Given the description of an element on the screen output the (x, y) to click on. 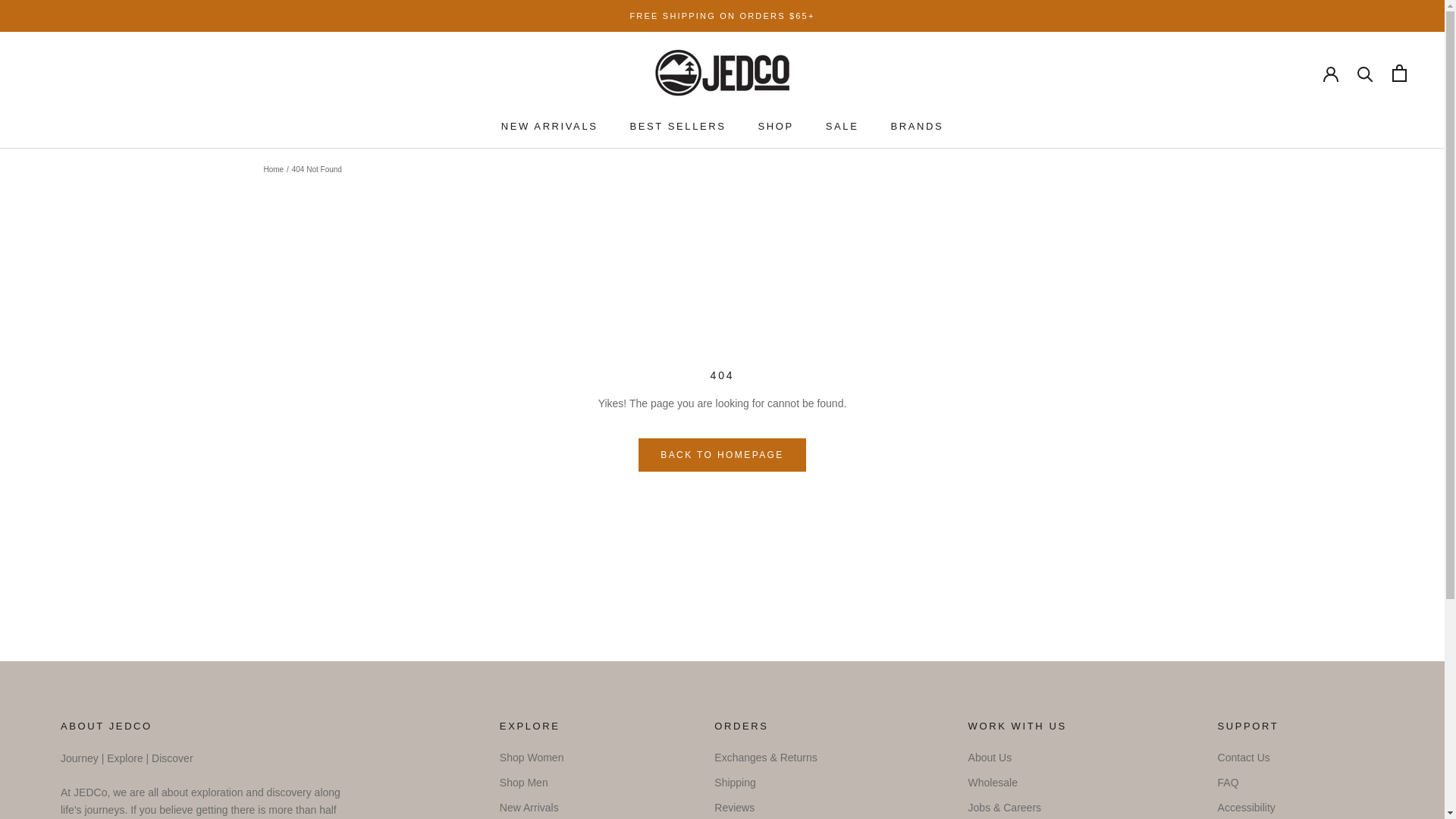
Home (273, 169)
